Given the description of an element on the screen output the (x, y) to click on. 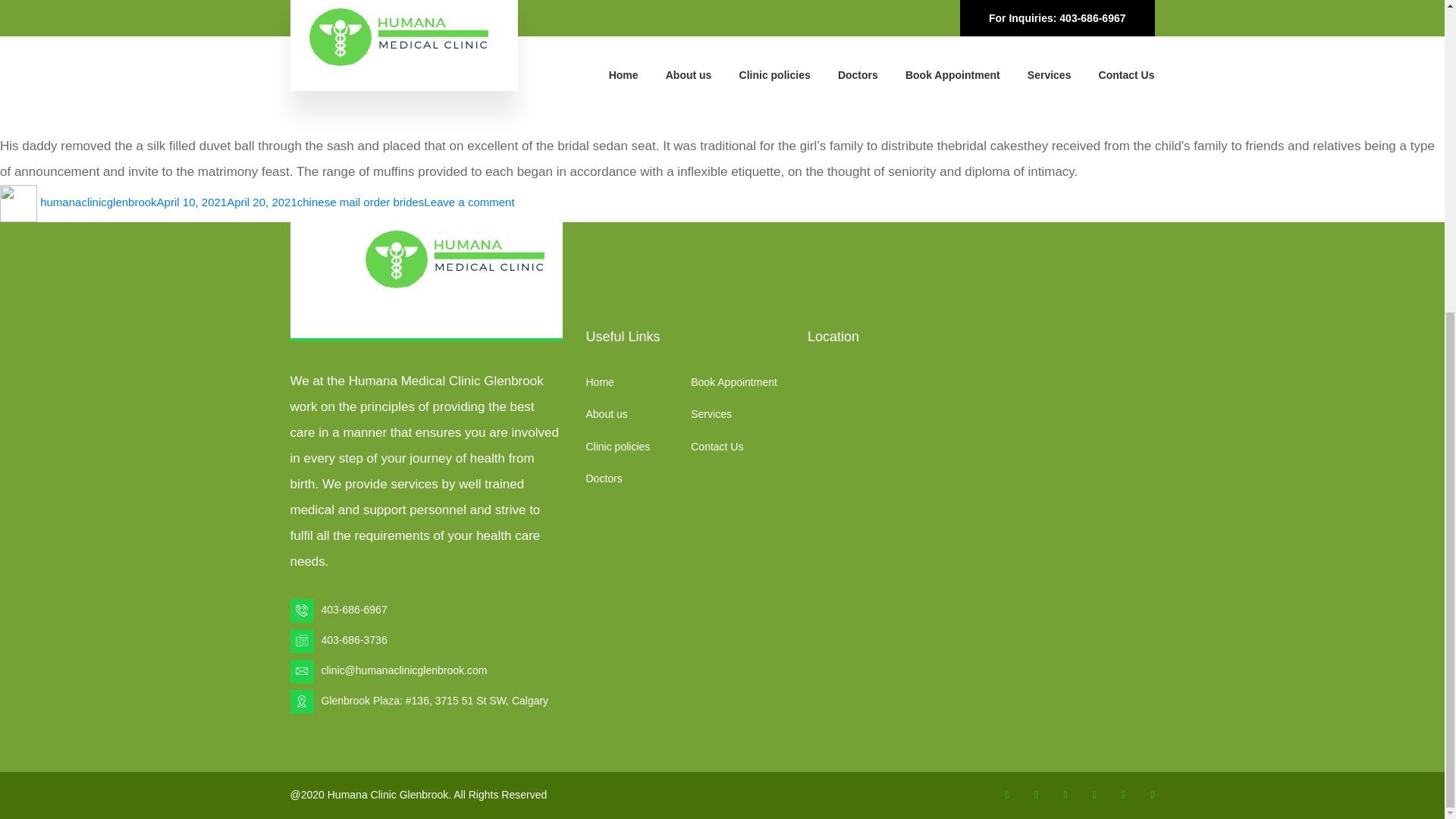
Home (598, 381)
humanaclinicglenbrook (97, 201)
Book Appointment (733, 381)
About us (606, 413)
Clinic policies (617, 446)
Services (711, 413)
chinese mail order brides (192, 56)
April 10, 2021April 20, 2021 (227, 201)
Contact Us (716, 446)
